Given the description of an element on the screen output the (x, y) to click on. 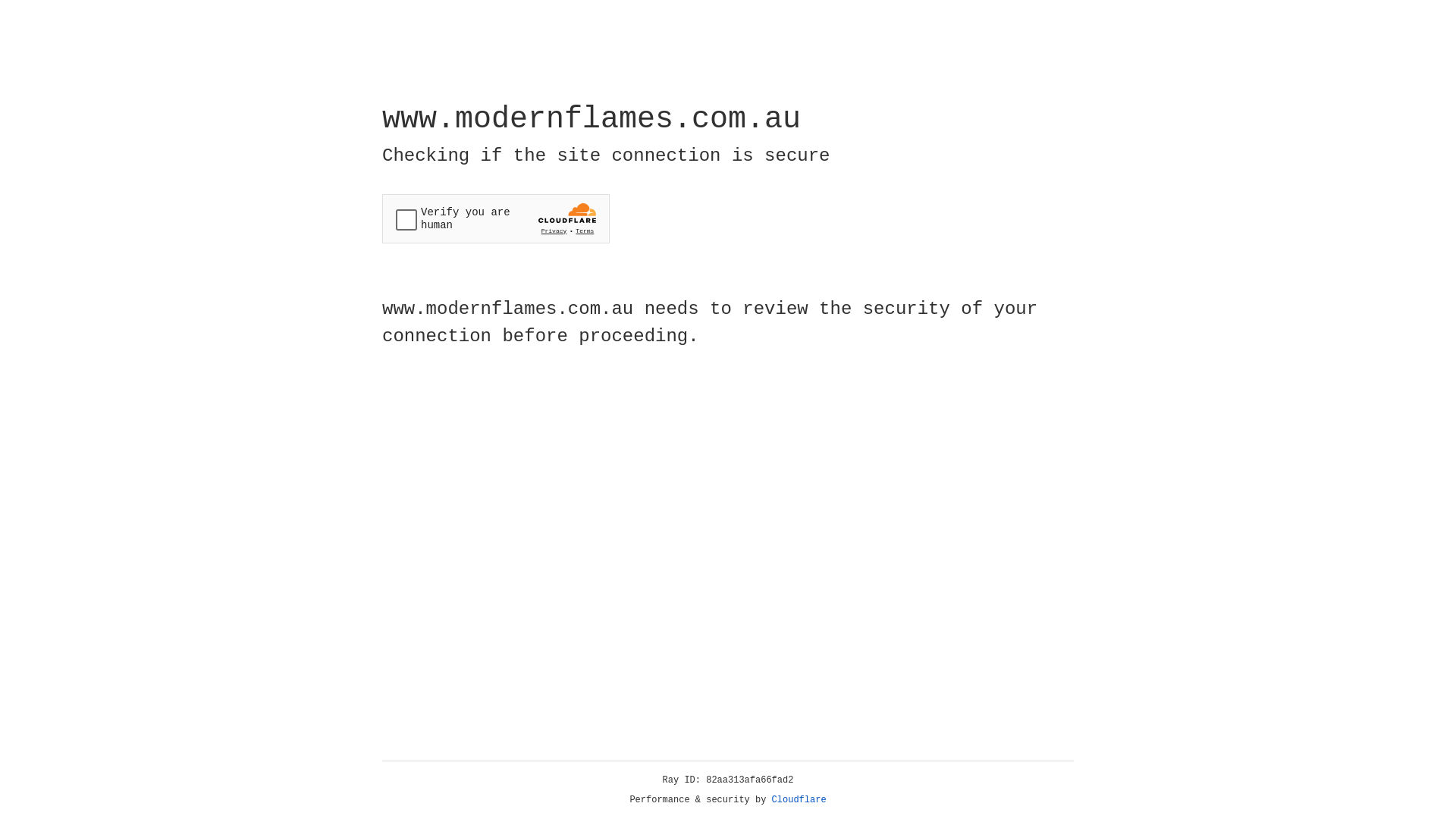
Cloudflare Element type: text (798, 799)
Widget containing a Cloudflare security challenge Element type: hover (495, 218)
